Given the description of an element on the screen output the (x, y) to click on. 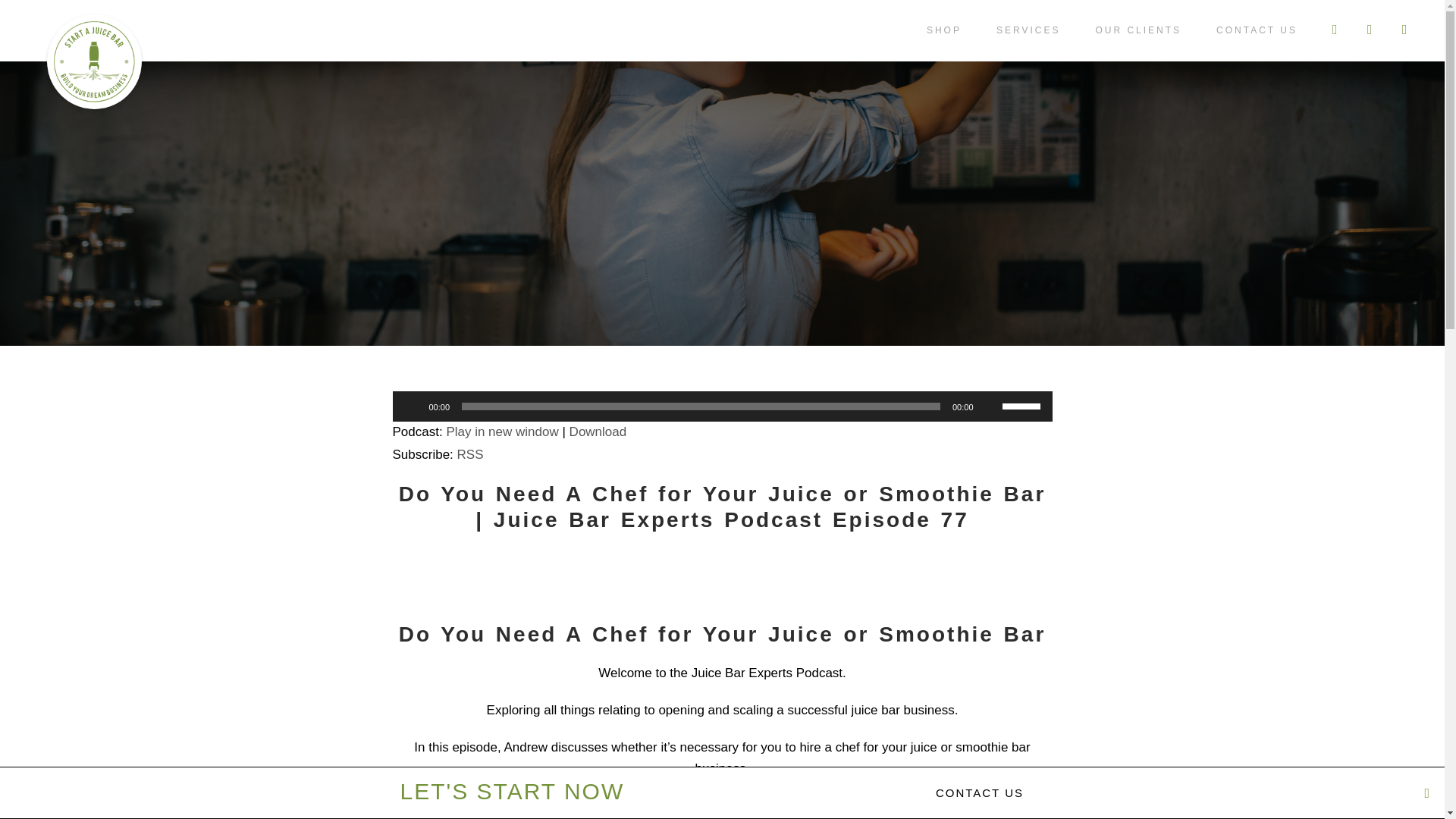
Download (598, 431)
SERVICES (1027, 41)
Subscribe via RSS (470, 454)
Play (412, 406)
CONTACT US (1256, 41)
Mute (989, 406)
OUR CLIENTS (1137, 41)
Play in new window (501, 431)
SHOP (943, 41)
